Given the description of an element on the screen output the (x, y) to click on. 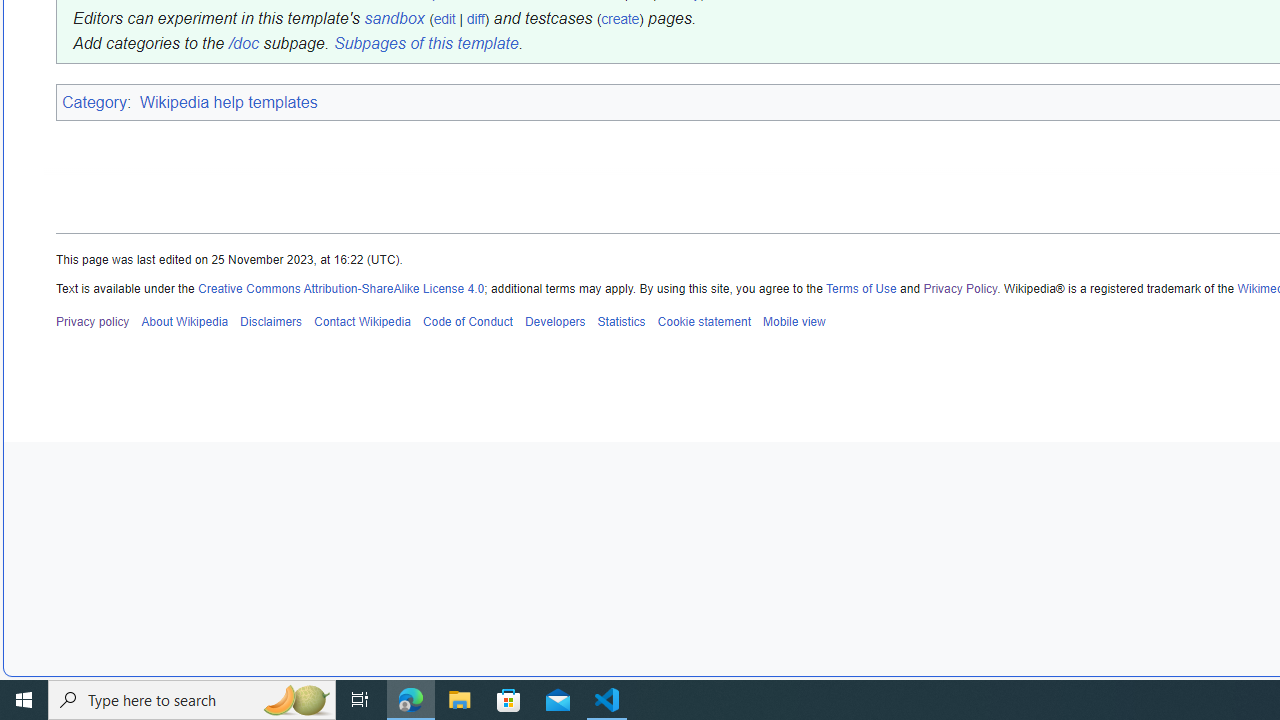
Code of Conduct (467, 321)
edit (443, 18)
Privacy policy (93, 321)
Privacy Policy (960, 287)
Wikipedia help templates (228, 101)
Mobile view (793, 321)
Developers (554, 321)
Subpages of this template (425, 44)
About Wikipedia (184, 321)
Cookie statement (703, 321)
Statistics (621, 321)
Code of Conduct (467, 321)
/doc (242, 44)
Statistics (621, 321)
